Given the description of an element on the screen output the (x, y) to click on. 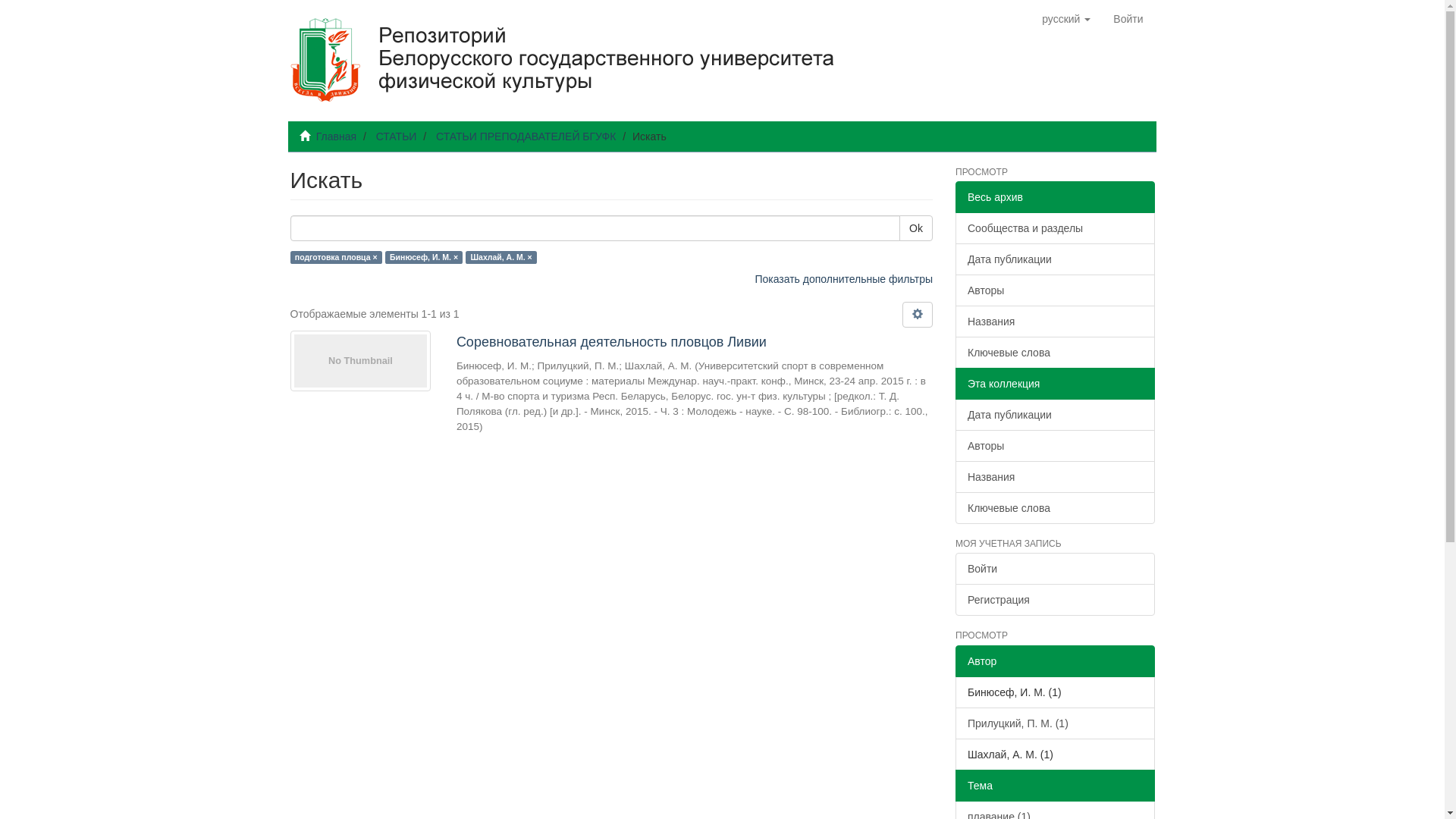
Ok Element type: text (915, 228)
